Given the description of an element on the screen output the (x, y) to click on. 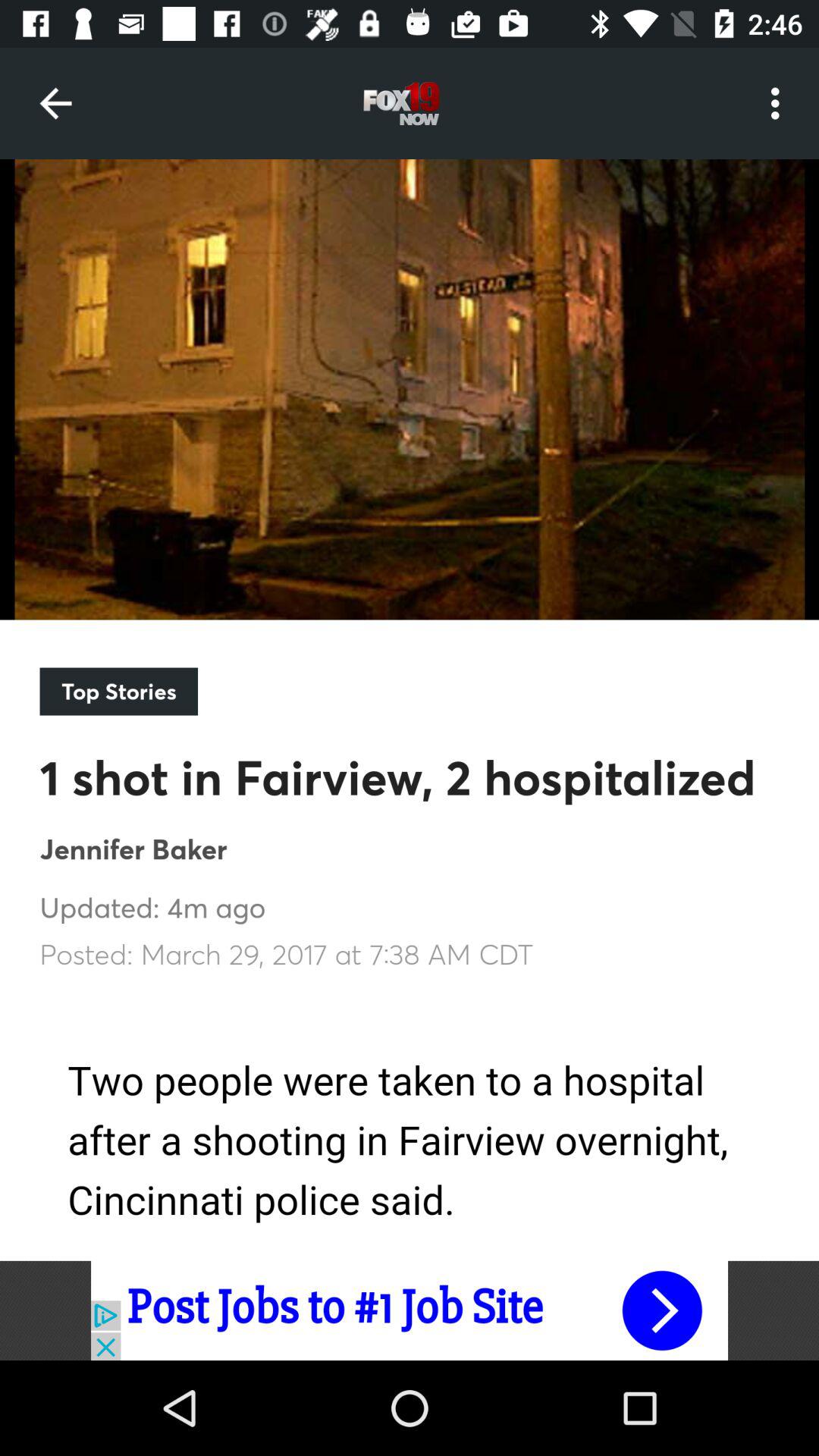
go to the advertised website (409, 1310)
